Given the description of an element on the screen output the (x, y) to click on. 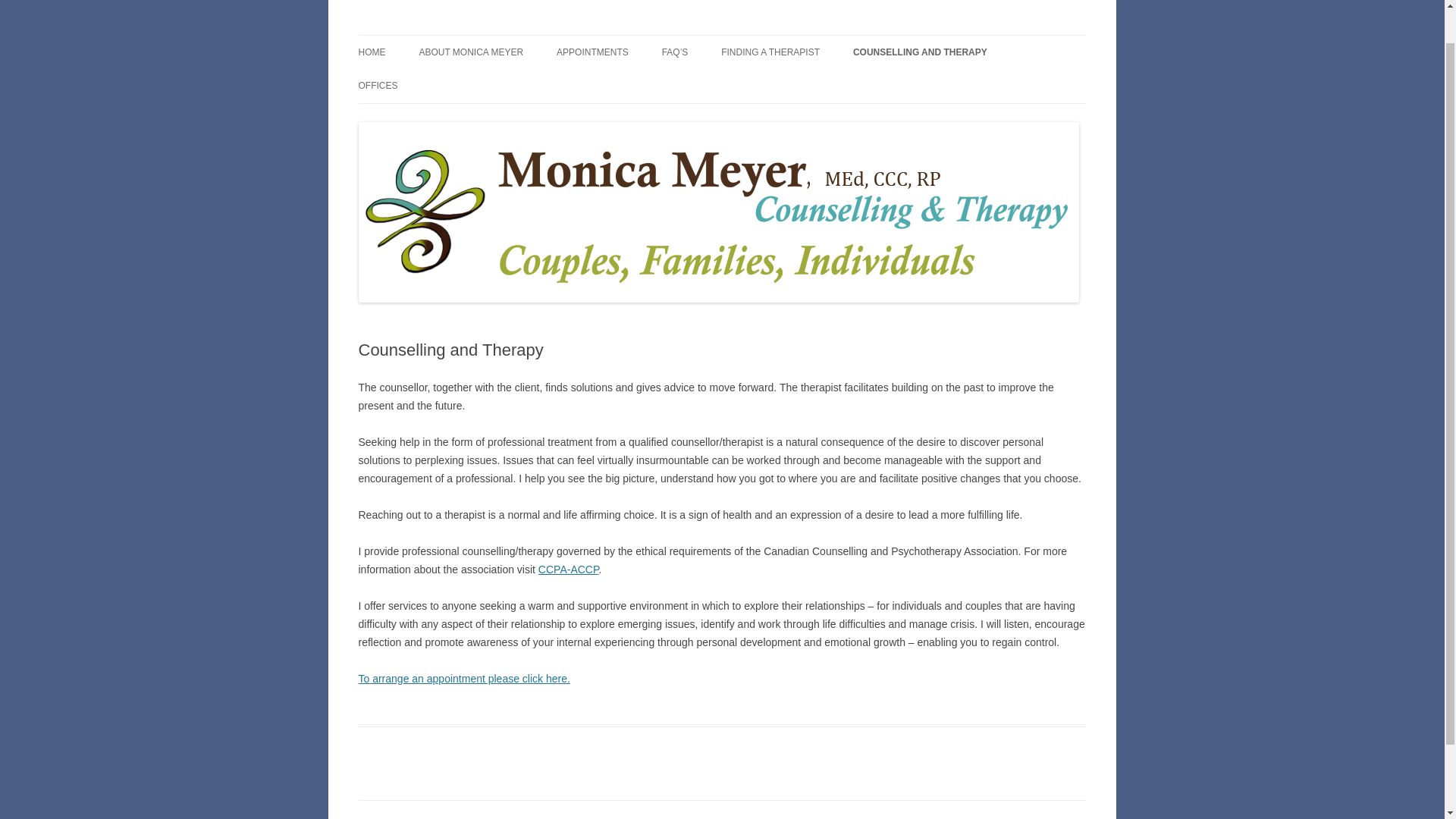
CCPA-ACCP (568, 569)
APPOINTMENTS (592, 52)
To arrange an appointment please click here. (463, 678)
ABOUT MONICA MEYER (470, 52)
OFFICES (377, 85)
FINDING A THERAPIST (769, 52)
COUNSELLING AND THERAPY (920, 52)
